Given the description of an element on the screen output the (x, y) to click on. 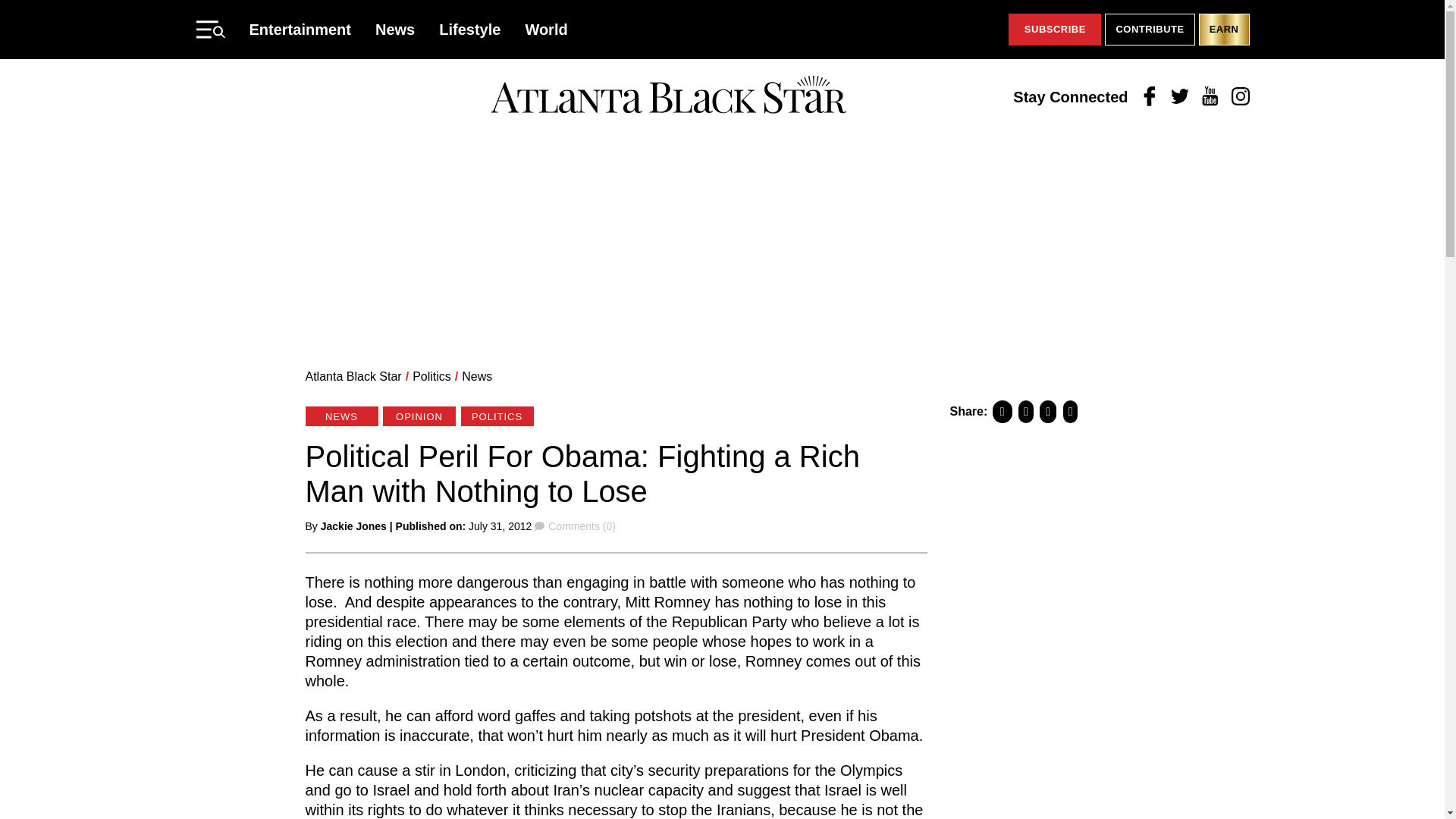
EARN (1223, 29)
CONTRIBUTE (1149, 29)
Atlanta Black Star (352, 376)
Go to the Politics Category archives. (431, 376)
World (545, 29)
Entertainment (299, 29)
SUBSCRIBE (1054, 29)
Politics (431, 376)
News (394, 29)
Go to Atlanta Black Star. (352, 376)
